Given the description of an element on the screen output the (x, y) to click on. 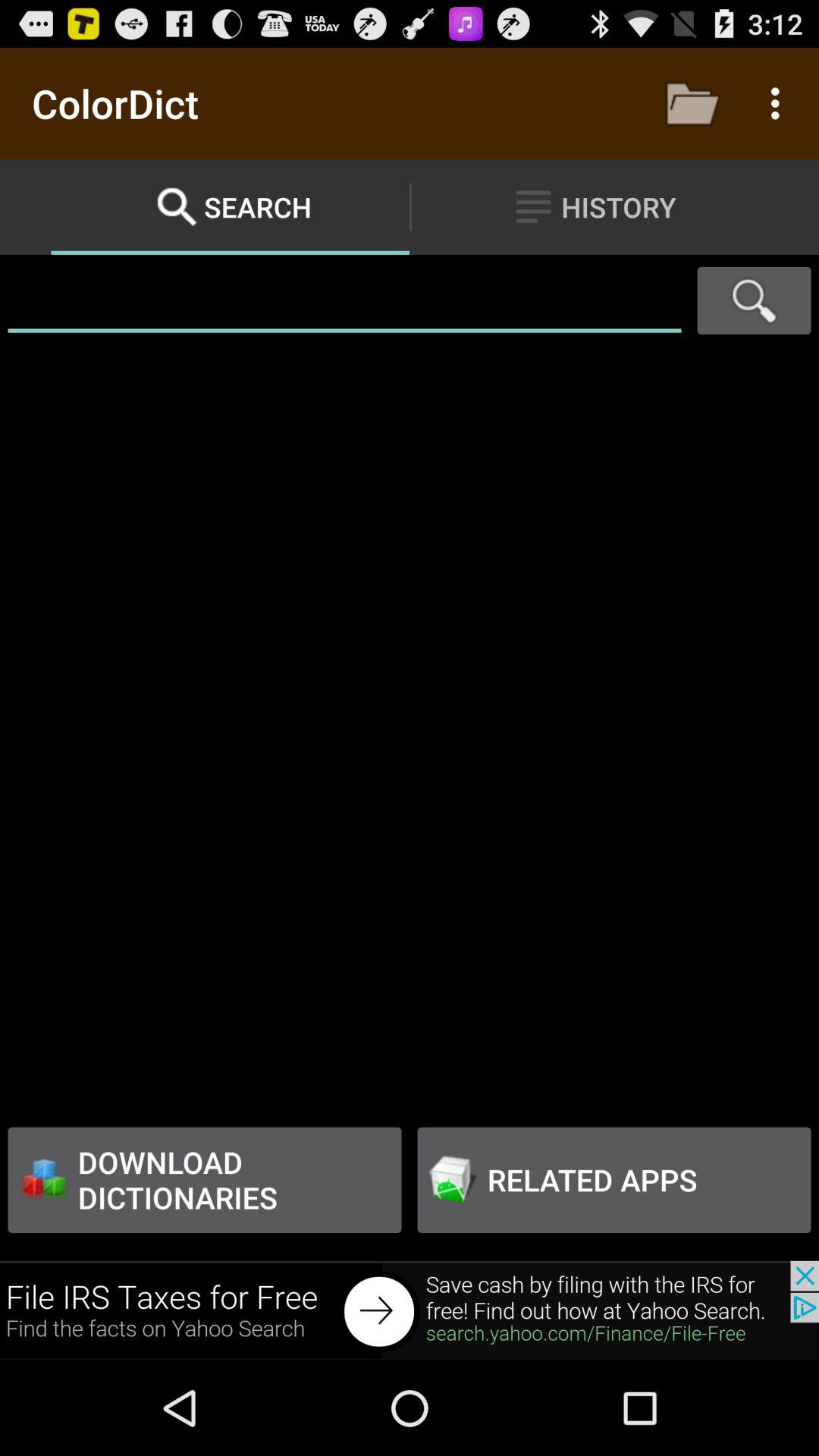
search button (754, 300)
